Given the description of an element on the screen output the (x, y) to click on. 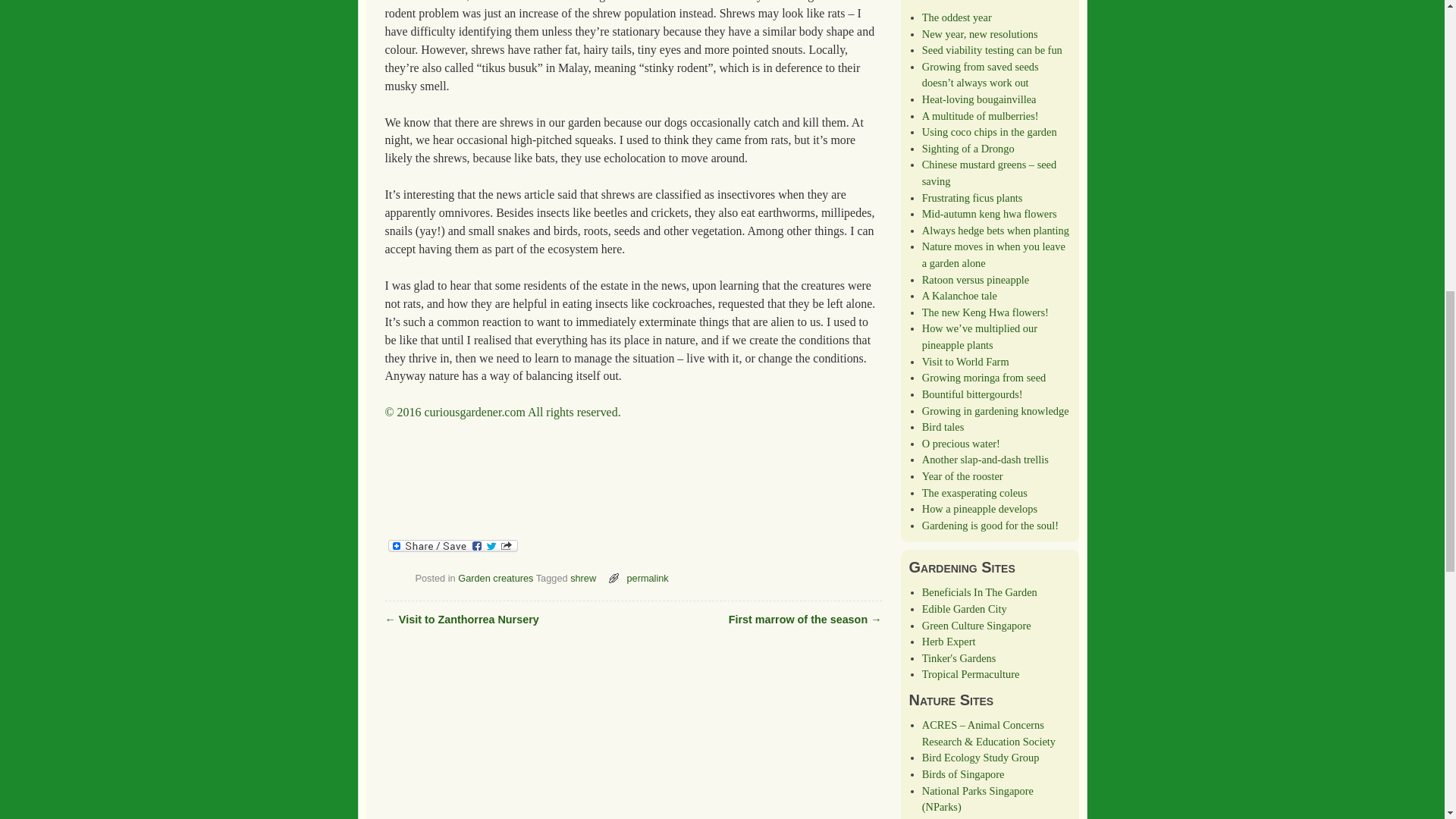
shrew (582, 577)
Garden creatures (495, 577)
permalink (647, 577)
The oddest year (956, 17)
View all posts in Garden creatures (495, 577)
